Given the description of an element on the screen output the (x, y) to click on. 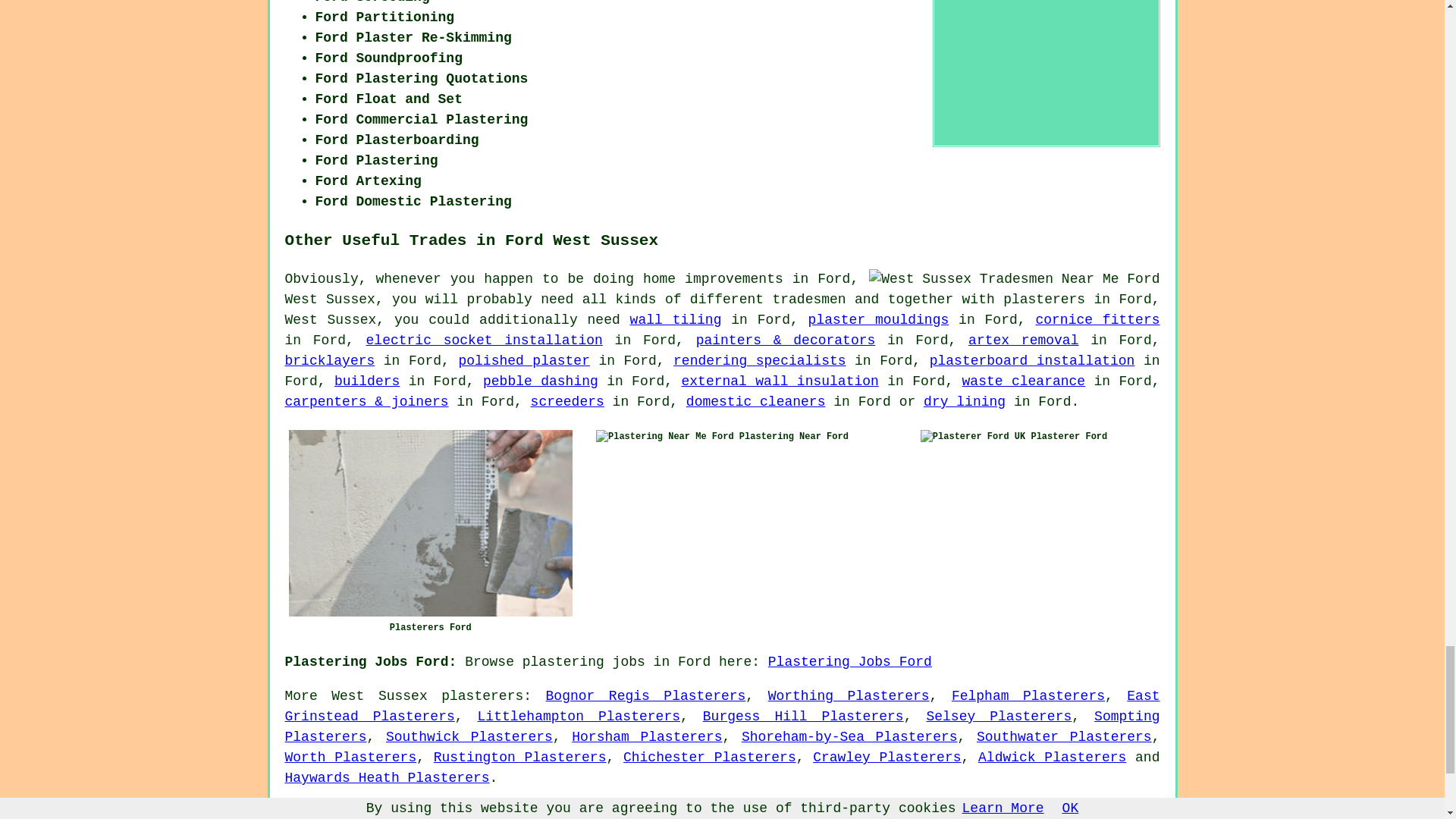
Bognor Regis Plasterers (645, 695)
Plastering Near Me Ford (664, 436)
Plasterer Ford UK (972, 436)
West Sussex Tradesmen Near Me Ford (1013, 279)
Plasterers Ford (430, 522)
Worthing Plasterers (849, 695)
Search for Ford Plasterers (1046, 70)
